Given the description of an element on the screen output the (x, y) to click on. 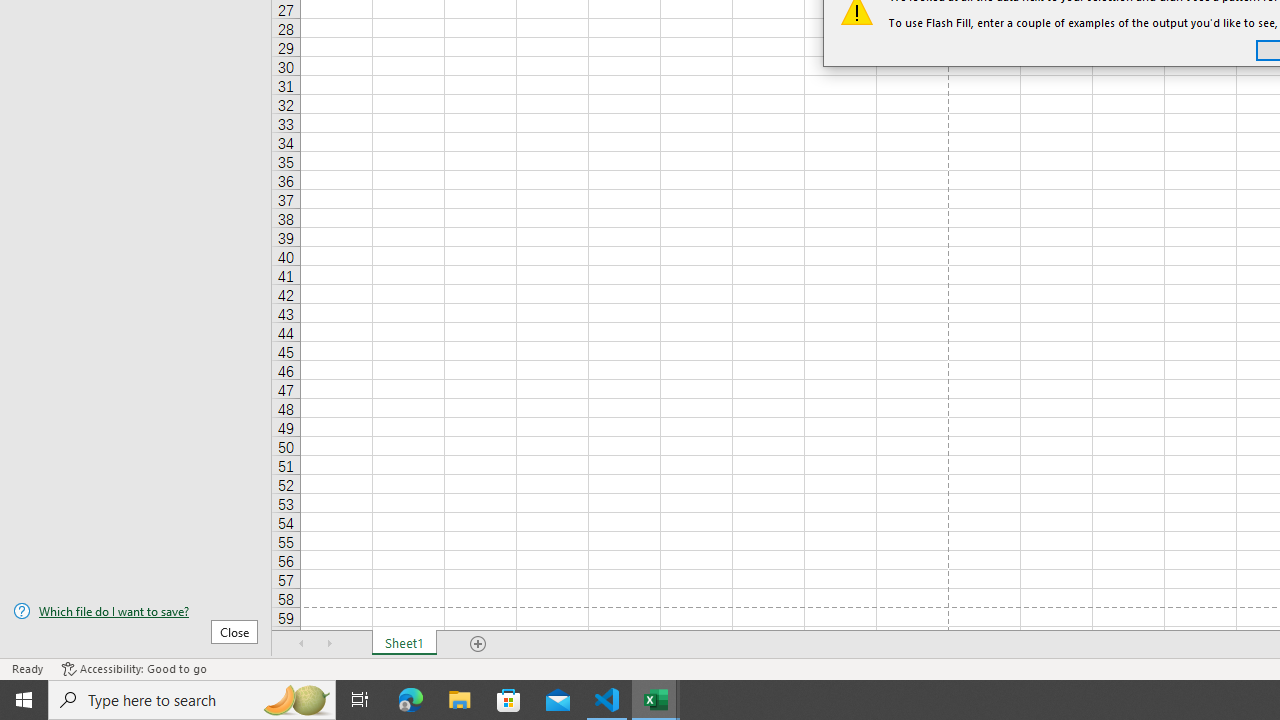
Start (24, 699)
